Given the description of an element on the screen output the (x, y) to click on. 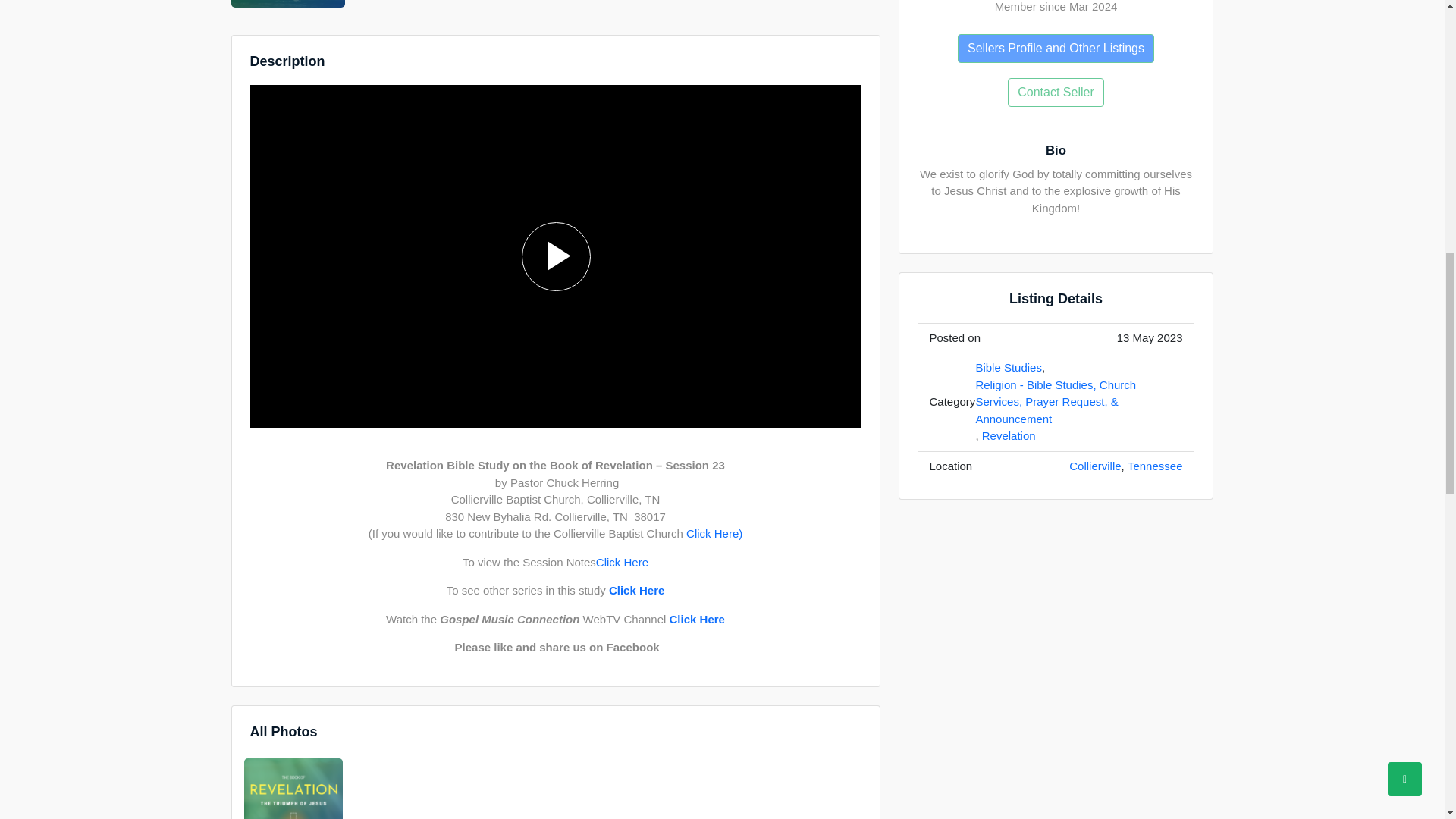
Revelation (1008, 436)
Bible Studies (1008, 367)
Contact Seller (1055, 91)
Click Here (621, 562)
Collierville (1094, 466)
Click Here (697, 619)
Tennessee (1154, 466)
Click Here (635, 590)
Sellers Profile and Other Listings (1056, 47)
